Given the description of an element on the screen output the (x, y) to click on. 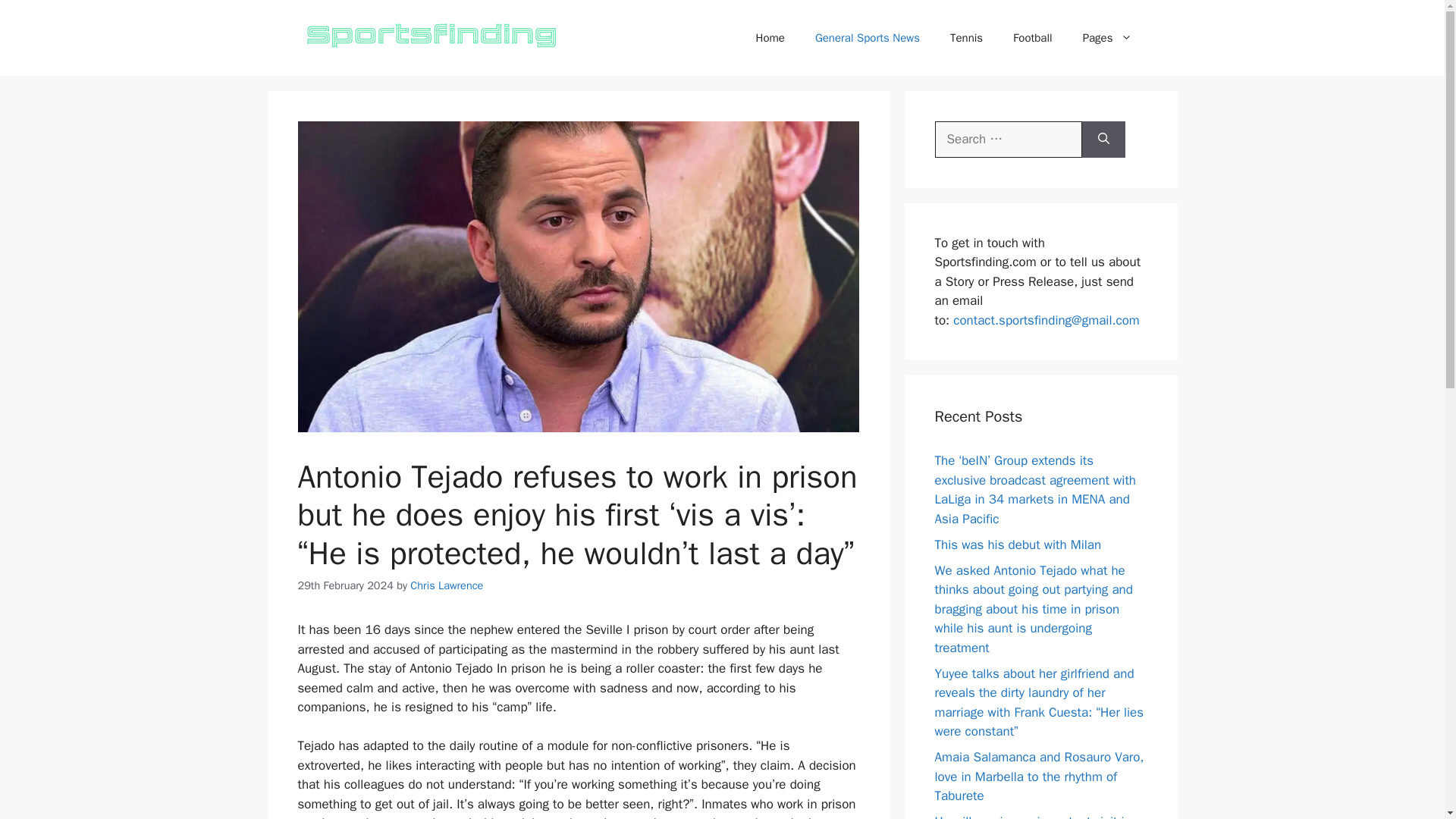
Tennis (965, 37)
Search for: (1007, 139)
Chris Lawrence (446, 585)
Pages (1107, 37)
This was his debut with Milan (1017, 544)
General Sports News (866, 37)
View all posts by Chris Lawrence (446, 585)
Football (1032, 37)
